Given the description of an element on the screen output the (x, y) to click on. 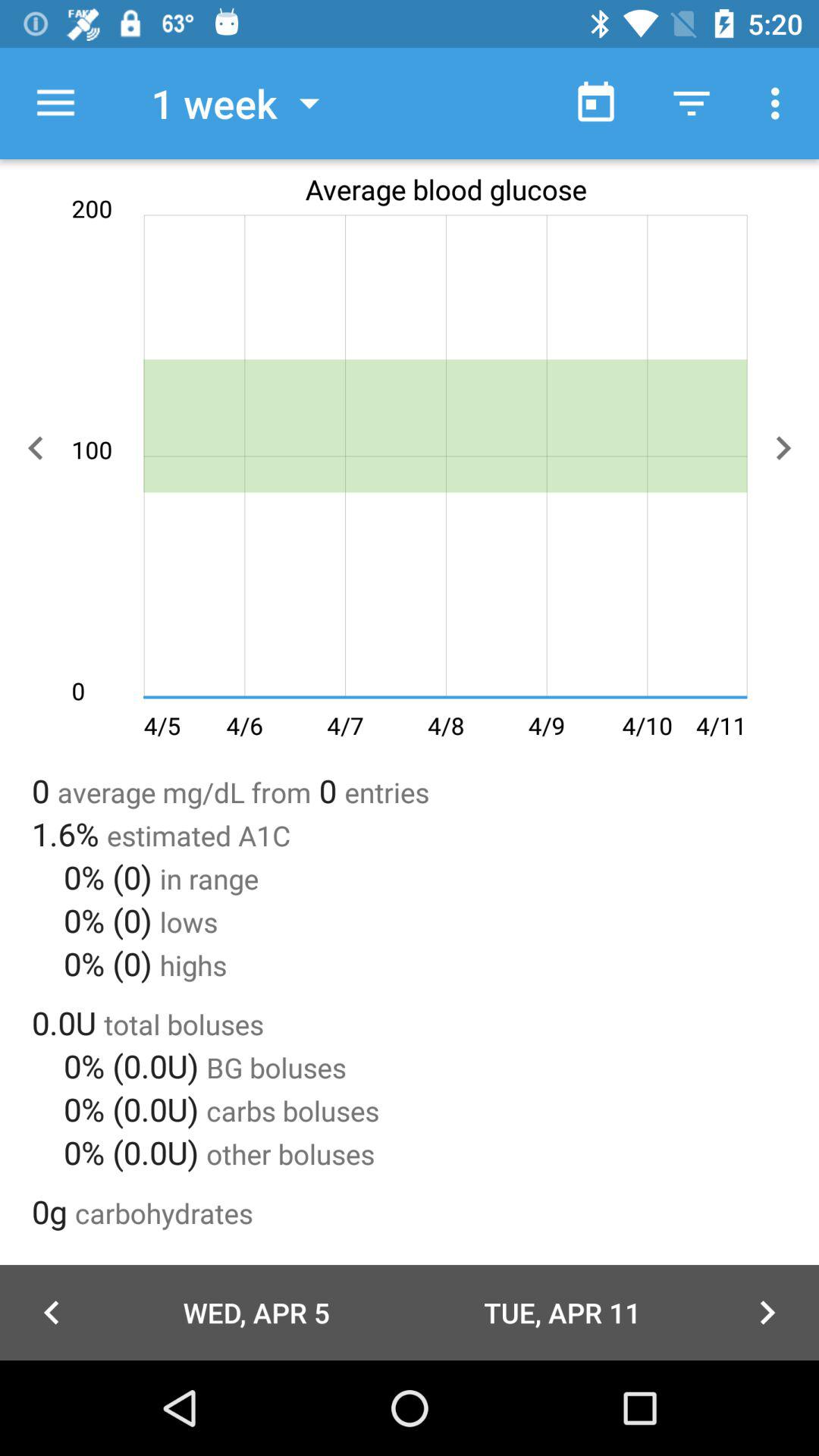
turn off icon to the left of the 1 week icon (55, 103)
